Given the description of an element on the screen output the (x, y) to click on. 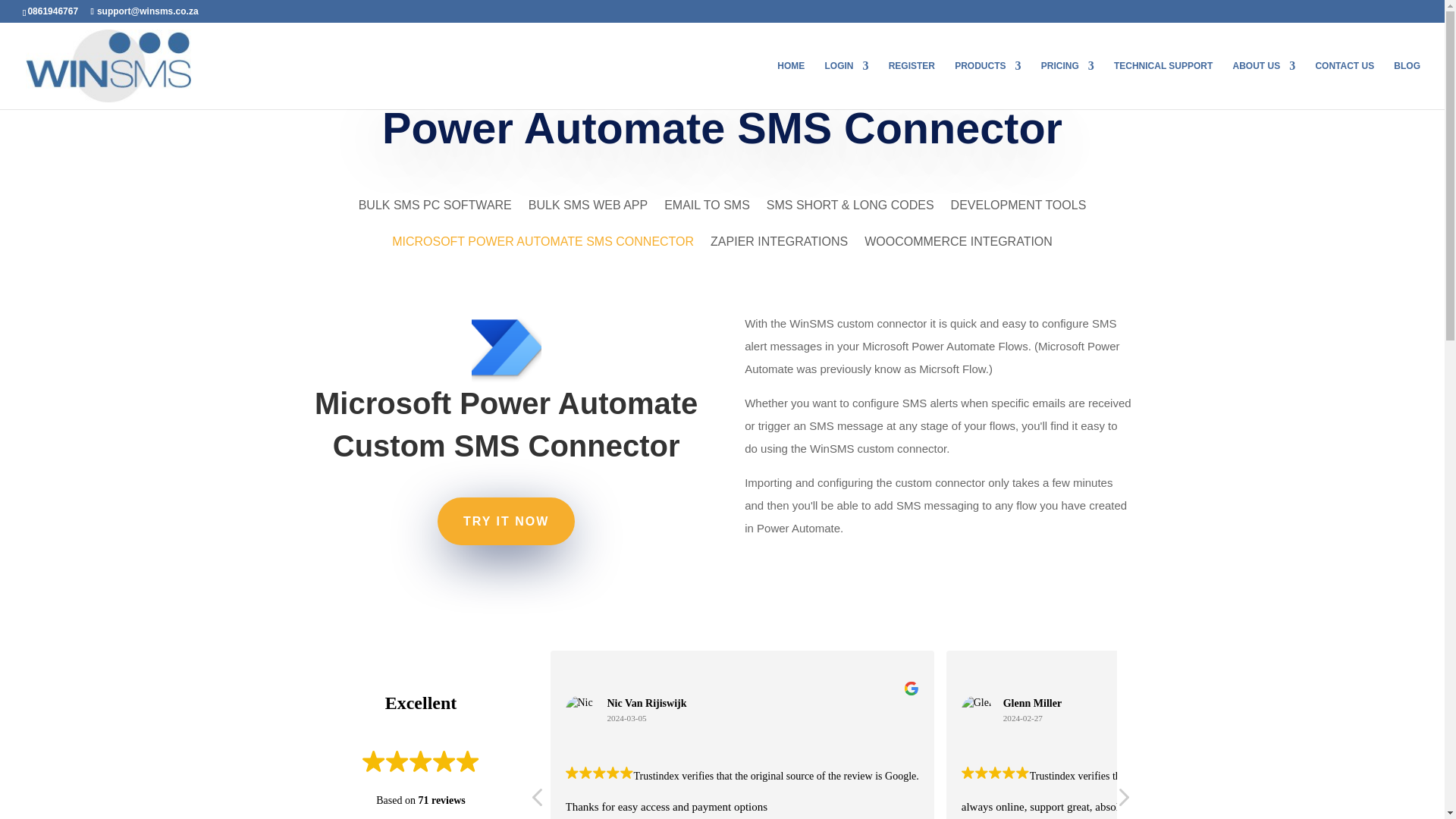
ABOUT US (1264, 84)
REGISTER (911, 84)
Microsoft Power Automate SMS Connector 4 (975, 710)
TECHNICAL SUPPORT (1162, 84)
DEVELOPMENT TOOLS (1018, 215)
PRODUCTS (987, 84)
HOME (791, 84)
PRICING (1067, 84)
ZAPIER INTEGRATIONS (778, 252)
BULK SMS PC SOFTWARE (435, 215)
Microsoft Power Automate SMS Connector 1 (506, 347)
MICROSOFT POWER AUTOMATE SMS CONNECTOR (542, 252)
TRY IT NOW (506, 521)
Microsoft Power Automate SMS Connector 3 (580, 710)
BLOG (1407, 84)
